Given the description of an element on the screen output the (x, y) to click on. 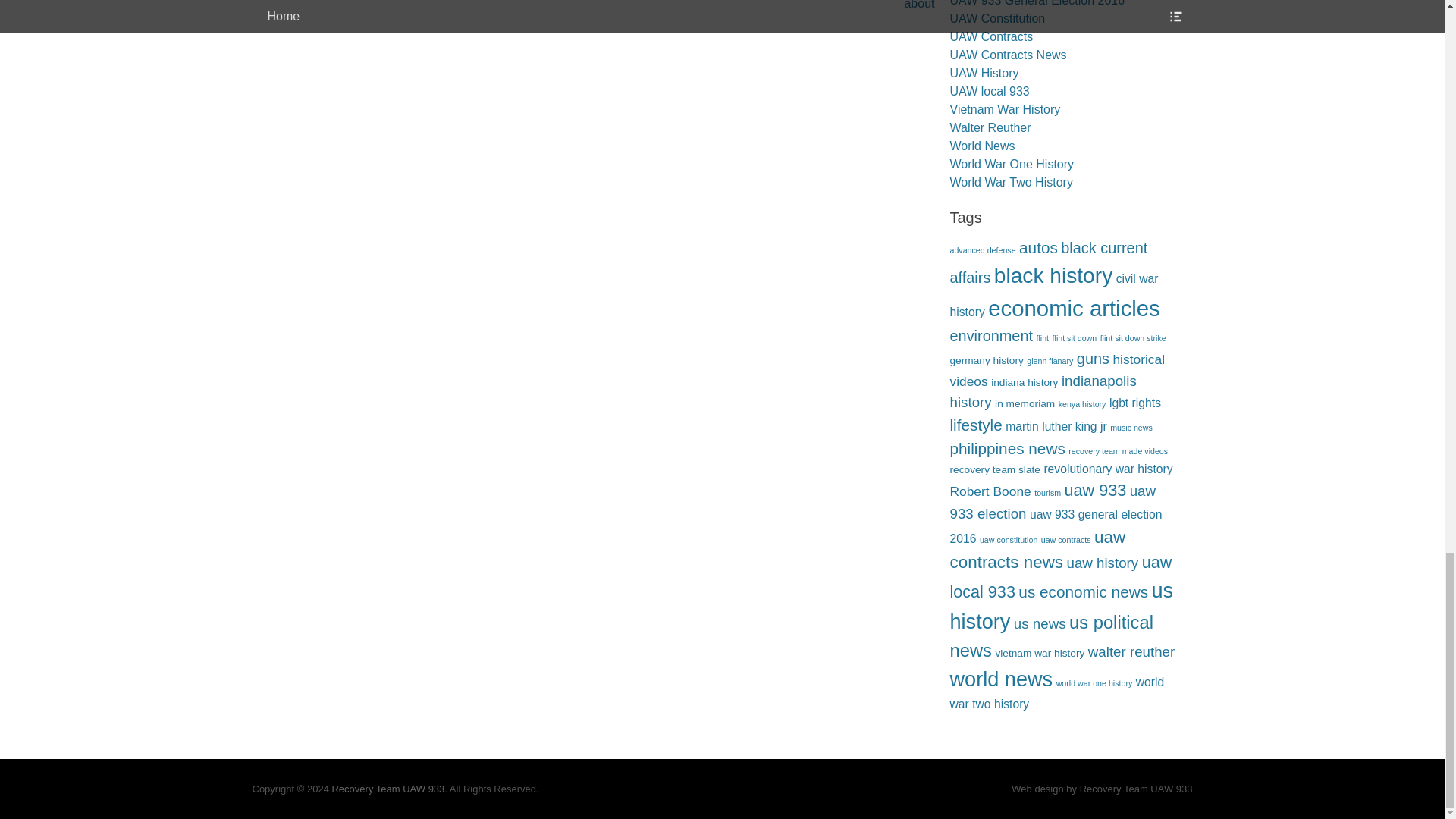
1 topic (1074, 338)
3 topics (1053, 294)
1 topic (981, 249)
1 topic (1041, 338)
21 topics (1053, 275)
7 topics (1038, 247)
2 topics (986, 360)
6 topics (1048, 262)
25 topics (1074, 308)
1 topic (1133, 338)
